Given the description of an element on the screen output the (x, y) to click on. 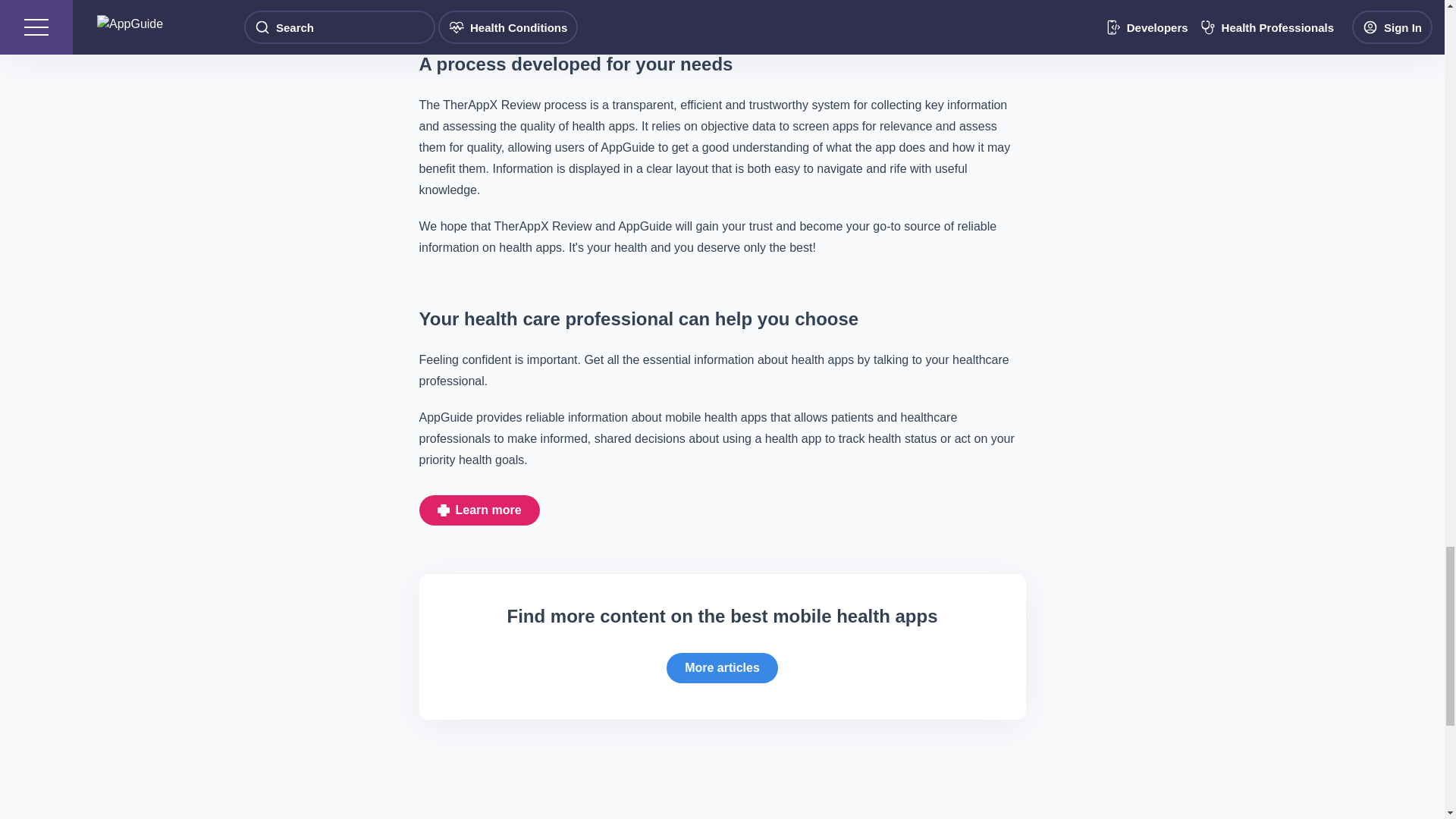
More articles (721, 667)
Learn more (478, 510)
